Given the description of an element on the screen output the (x, y) to click on. 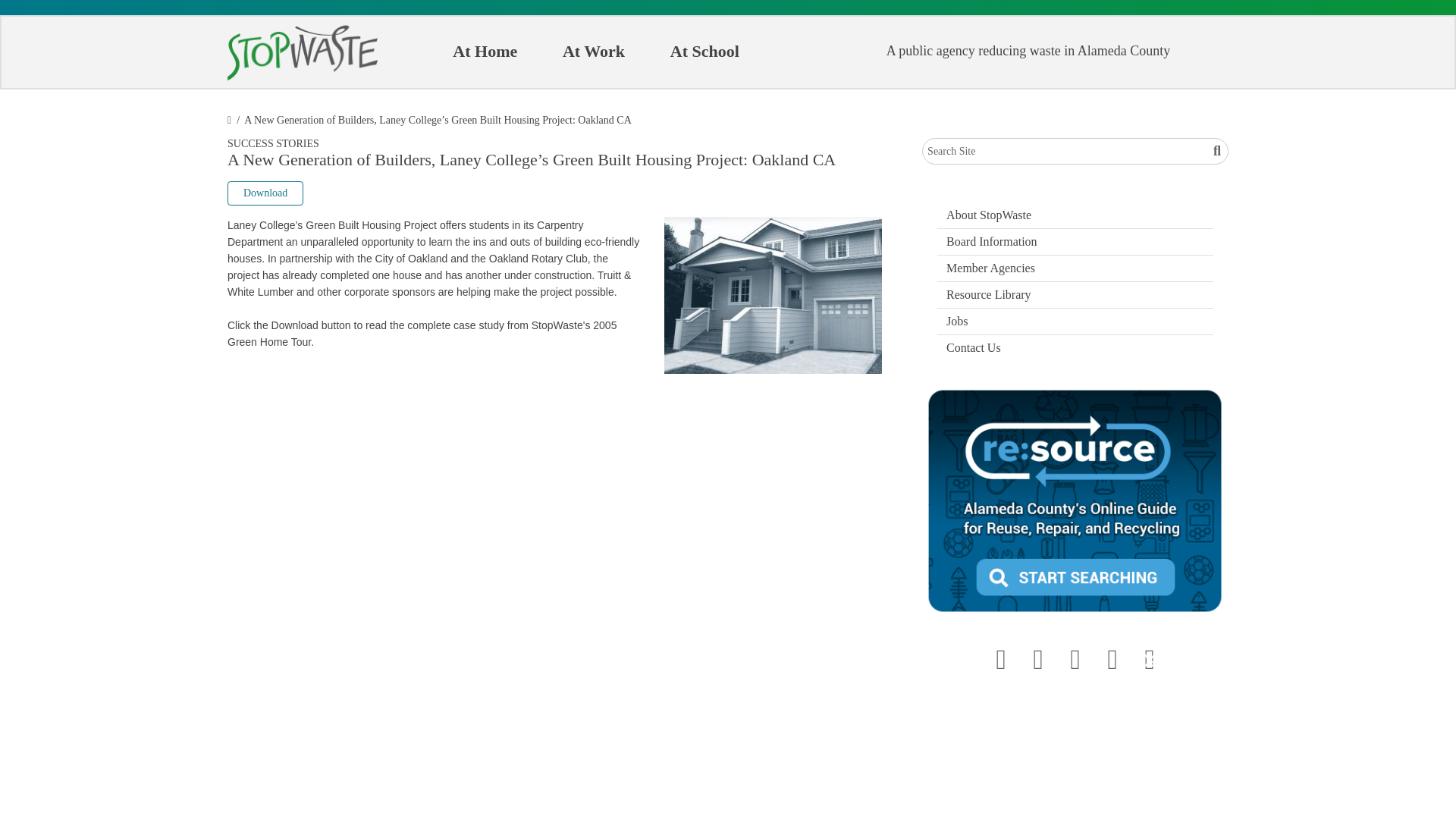
Enter the terms you wish to search for. (1074, 151)
At Home (484, 51)
Home (302, 52)
At Work (593, 51)
At School (705, 51)
